Given the description of an element on the screen output the (x, y) to click on. 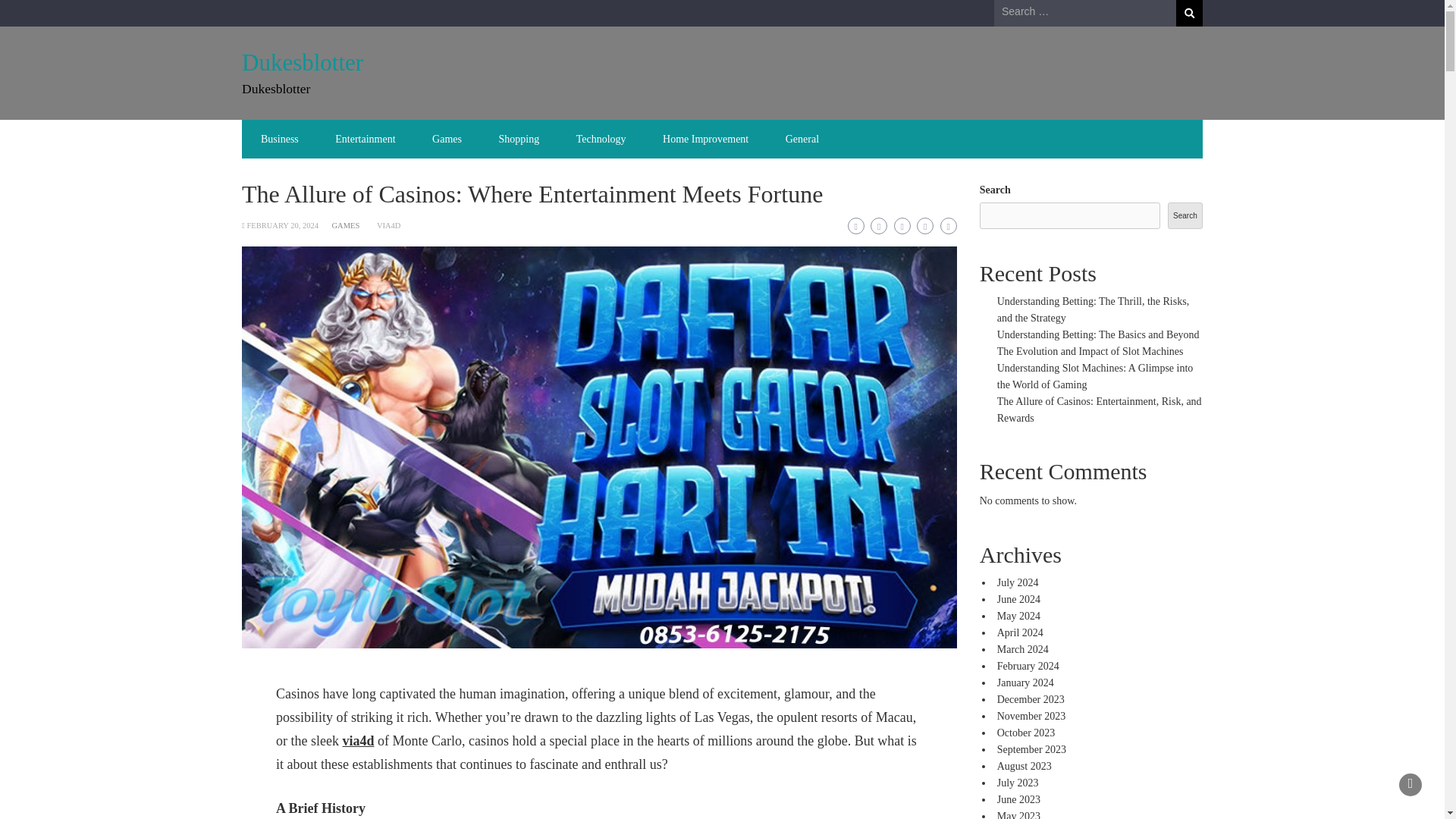
GAMES (345, 225)
General (802, 138)
Business (280, 138)
via4d (358, 740)
Search (1189, 13)
The Allure of Casinos: Entertainment, Risk, and Rewards (1099, 409)
May 2024 (1019, 615)
June 2024 (1019, 599)
Understanding Betting: The Basics and Beyond (1098, 334)
VIA4D (389, 225)
Home Improvement (704, 138)
Shopping (518, 138)
FEBRUARY 20, 2024 (281, 225)
The Evolution and Impact of Slot Machines (1090, 351)
